Given the description of an element on the screen output the (x, y) to click on. 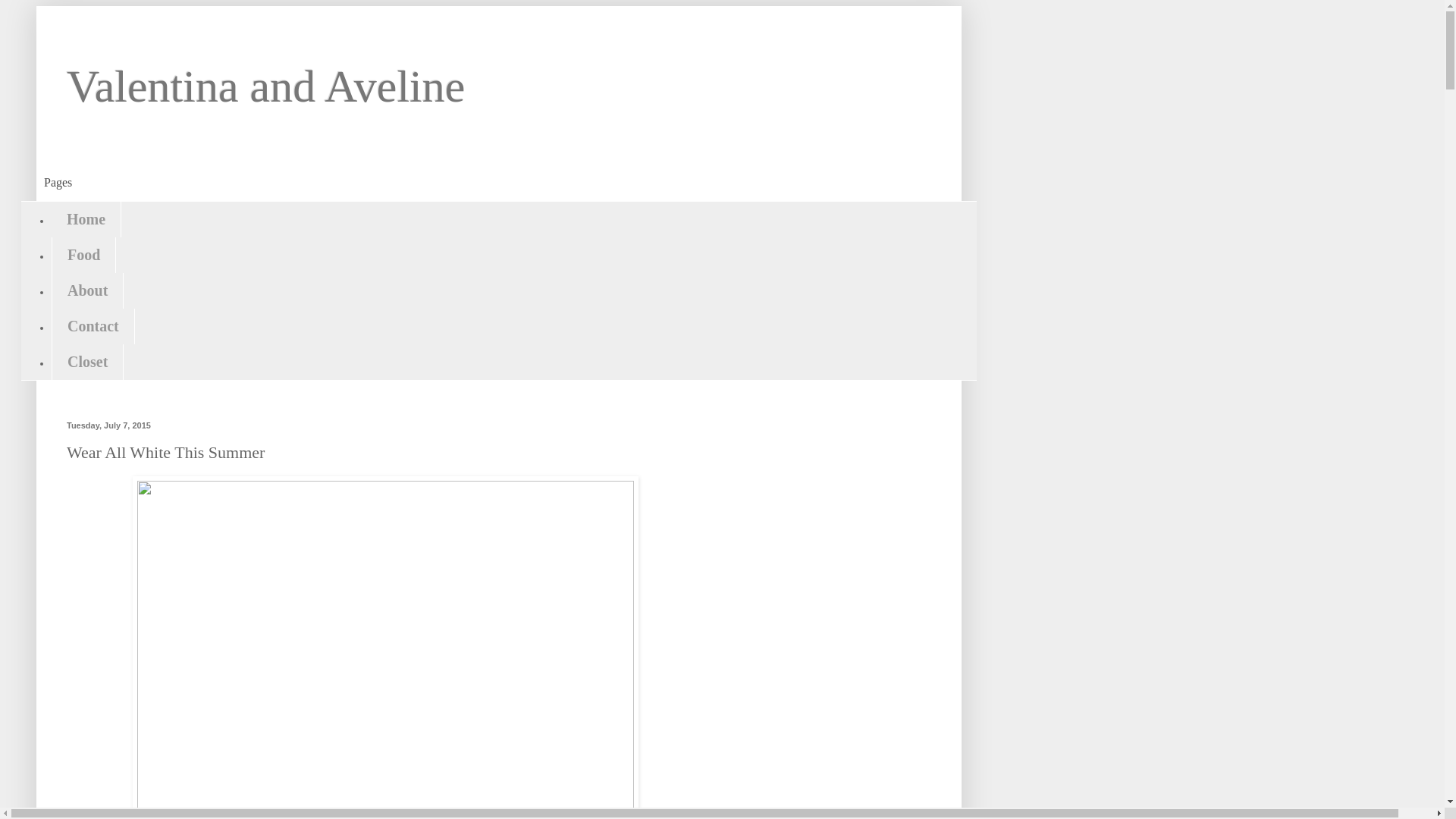
Food (83, 254)
Valentina and Aveline (265, 86)
Contact (92, 325)
Closet (86, 361)
Home (85, 219)
About (86, 290)
